Given the description of an element on the screen output the (x, y) to click on. 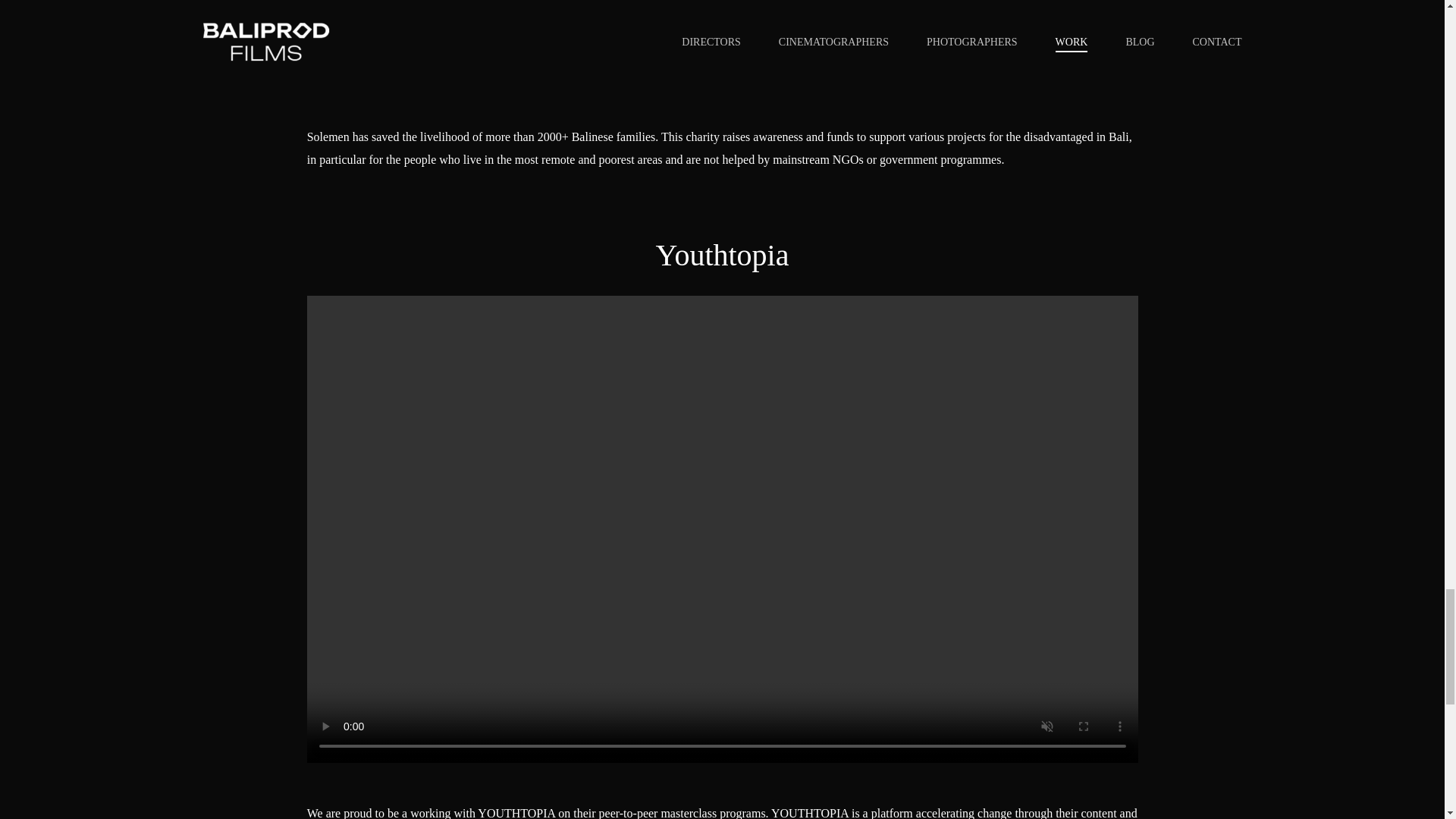
Sole Men - Balishoot - Video Production (722, 43)
